Given the description of an element on the screen output the (x, y) to click on. 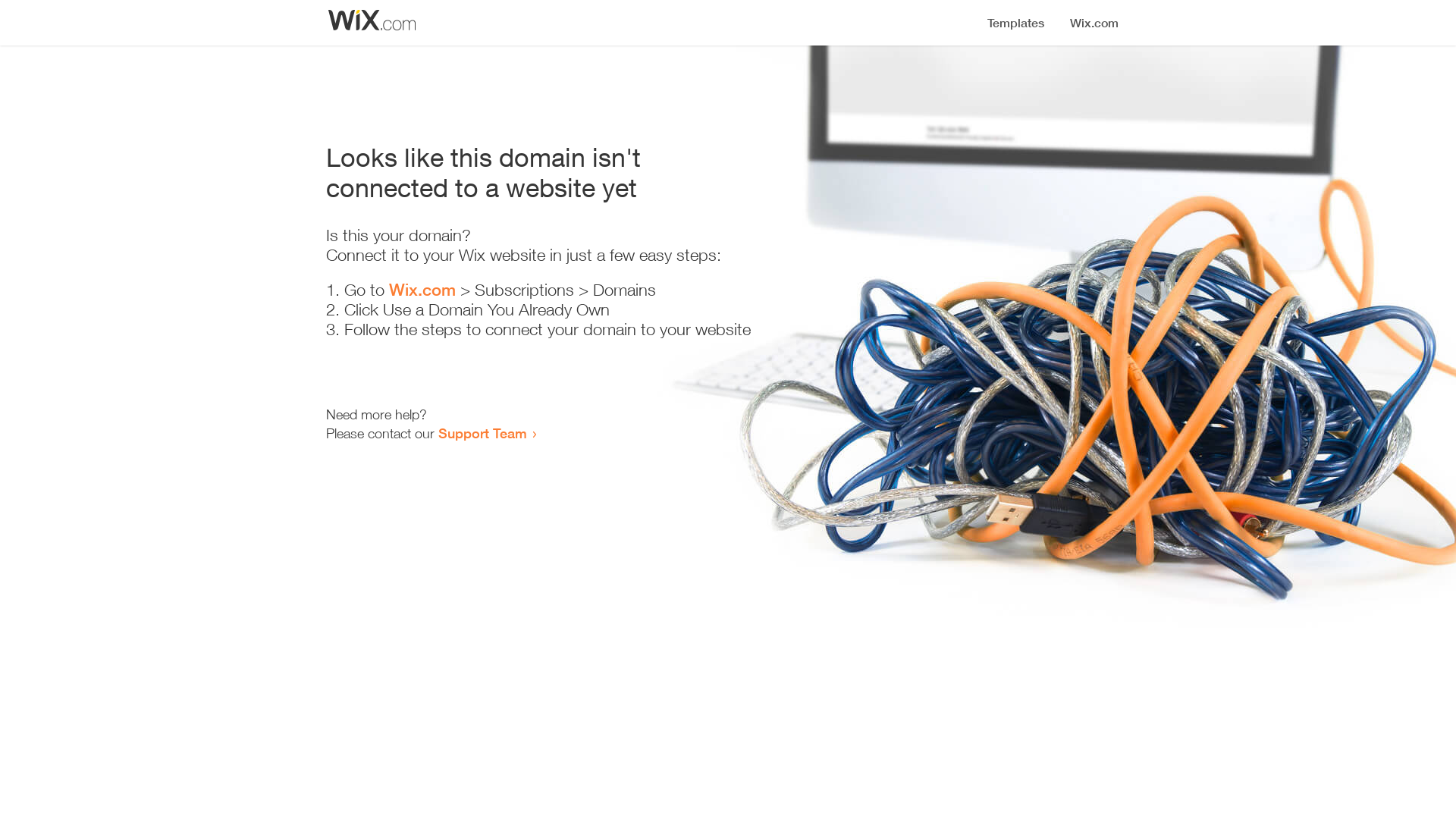
Wix.com Element type: text (422, 289)
Support Team Element type: text (482, 432)
